Given the description of an element on the screen output the (x, y) to click on. 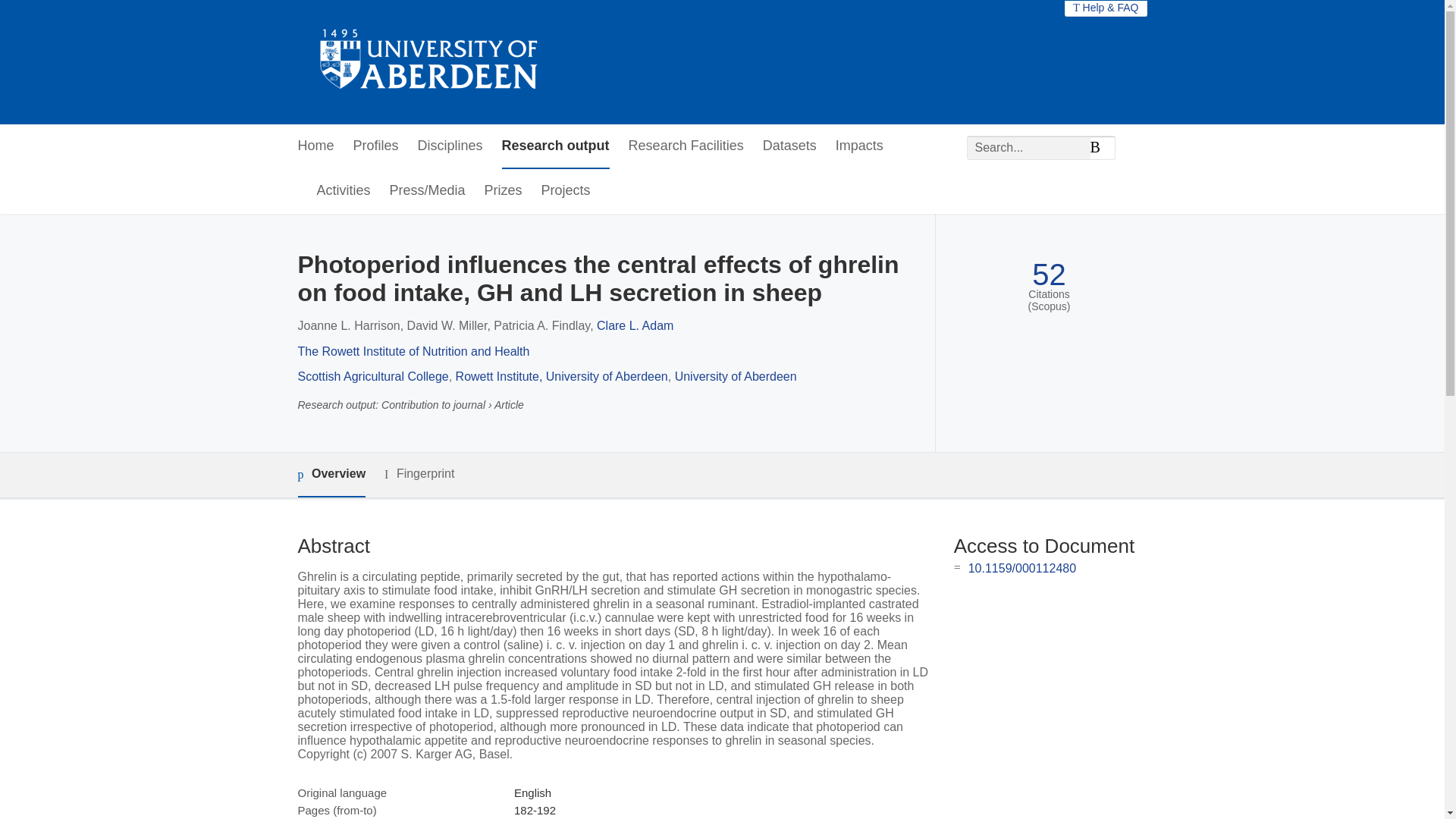
Research Facilities (686, 146)
Impacts (859, 146)
Disciplines (450, 146)
Research output (556, 146)
Clare L. Adam (634, 325)
University of Aberdeen (735, 376)
Scottish Agricultural College (372, 376)
Overview (331, 474)
Rowett Institute, University of Aberdeen (561, 376)
